Given the description of an element on the screen output the (x, y) to click on. 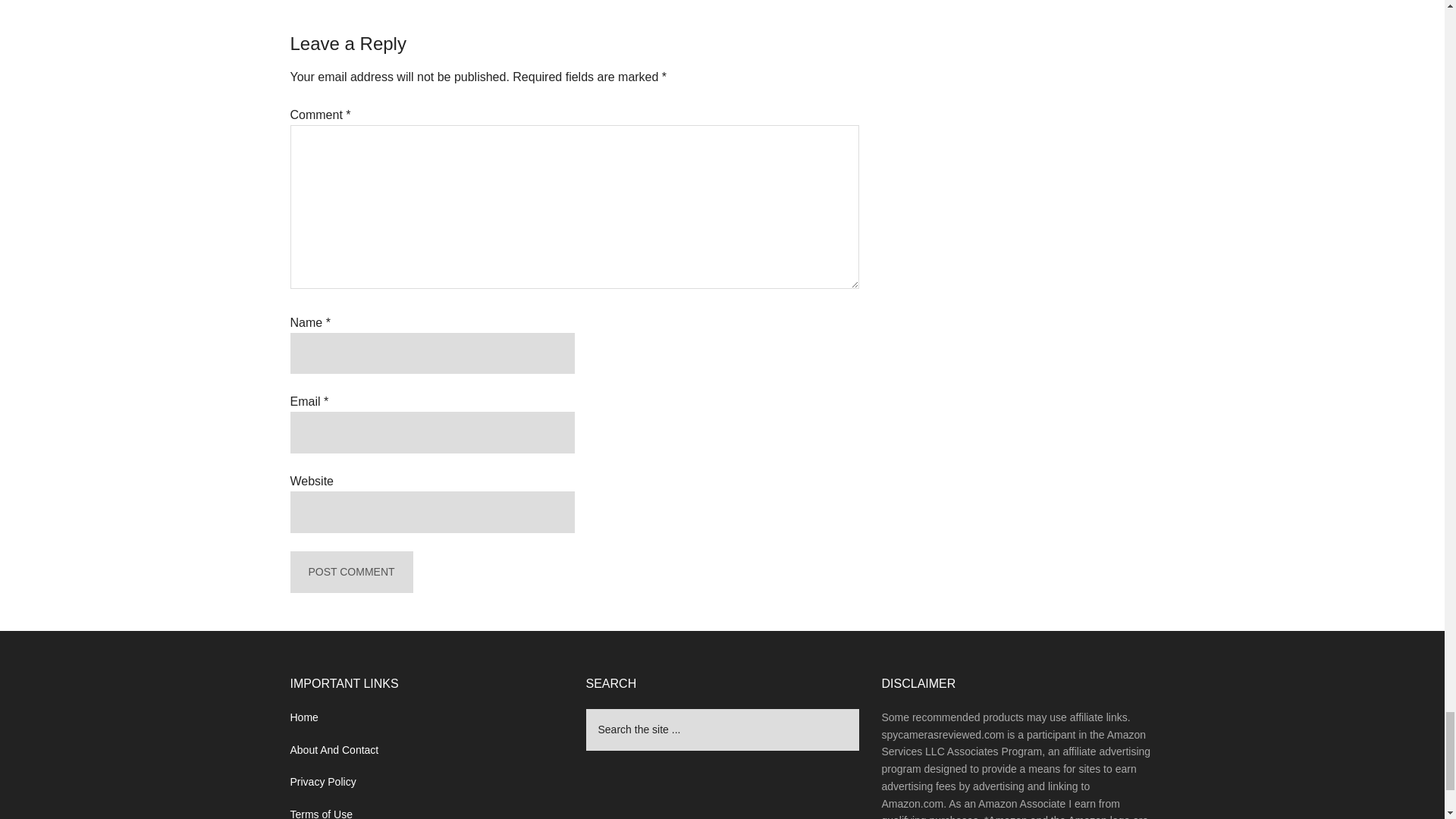
Post Comment (350, 571)
